Given the description of an element on the screen output the (x, y) to click on. 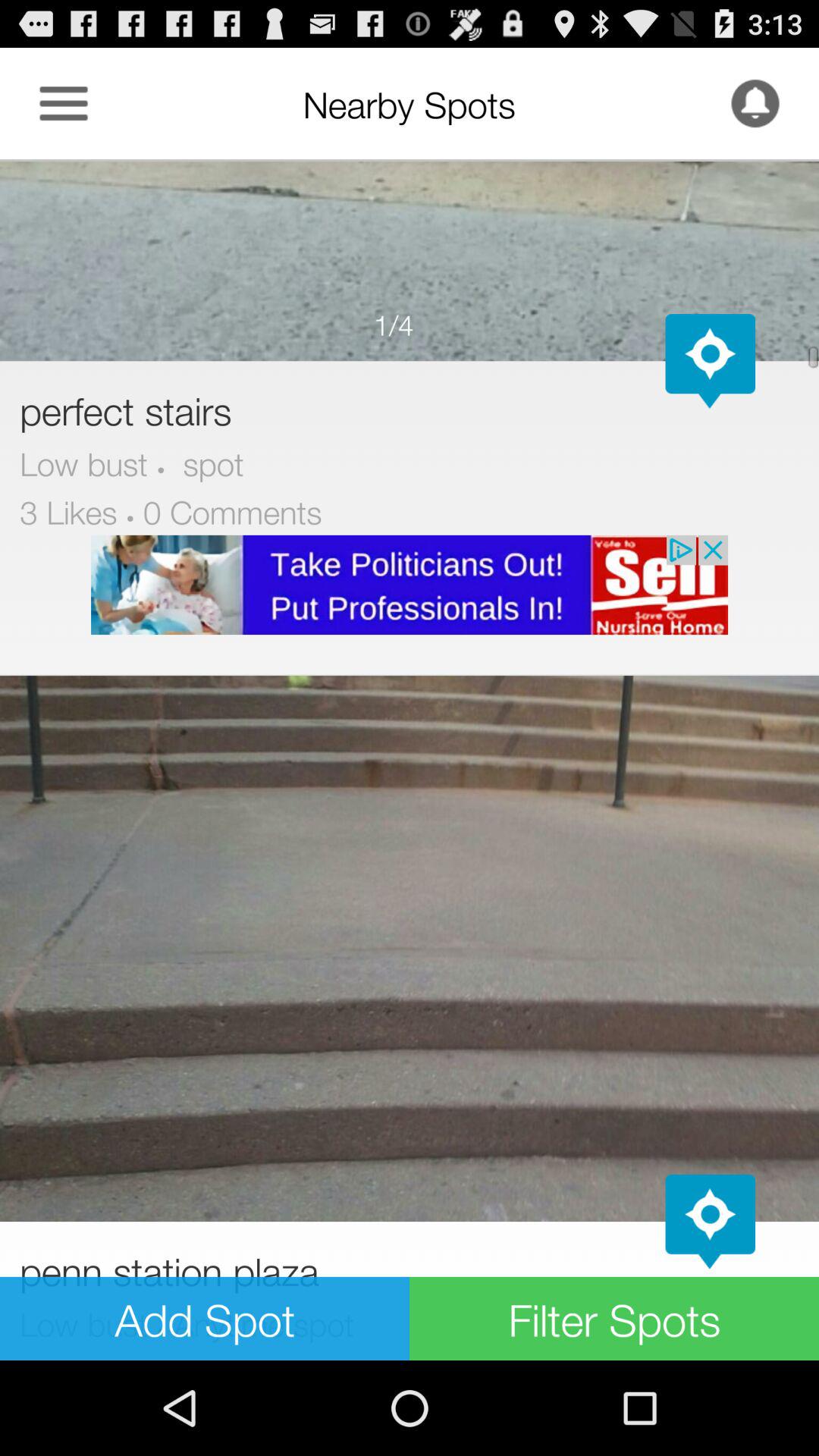
see on map (710, 360)
